Given the description of an element on the screen output the (x, y) to click on. 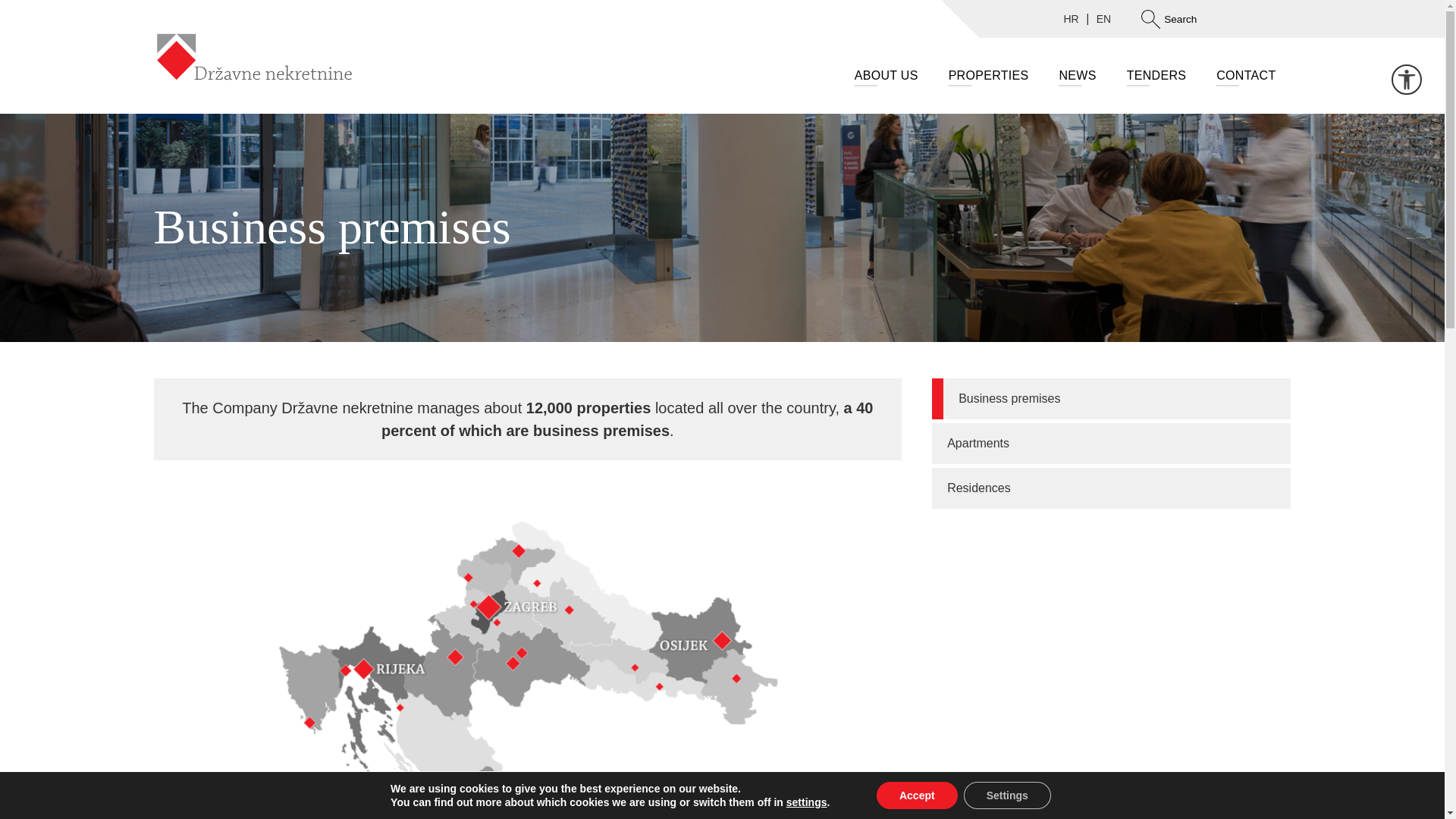
PROPERTIES (988, 75)
Apartments (1110, 443)
ABOUT US (886, 75)
TENDERS (1157, 75)
CONTACT (1245, 75)
NEWS (1076, 75)
settings (806, 802)
Business premises (1110, 398)
EN (1104, 18)
Residences (1110, 487)
HR (1071, 18)
